Given the description of an element on the screen output the (x, y) to click on. 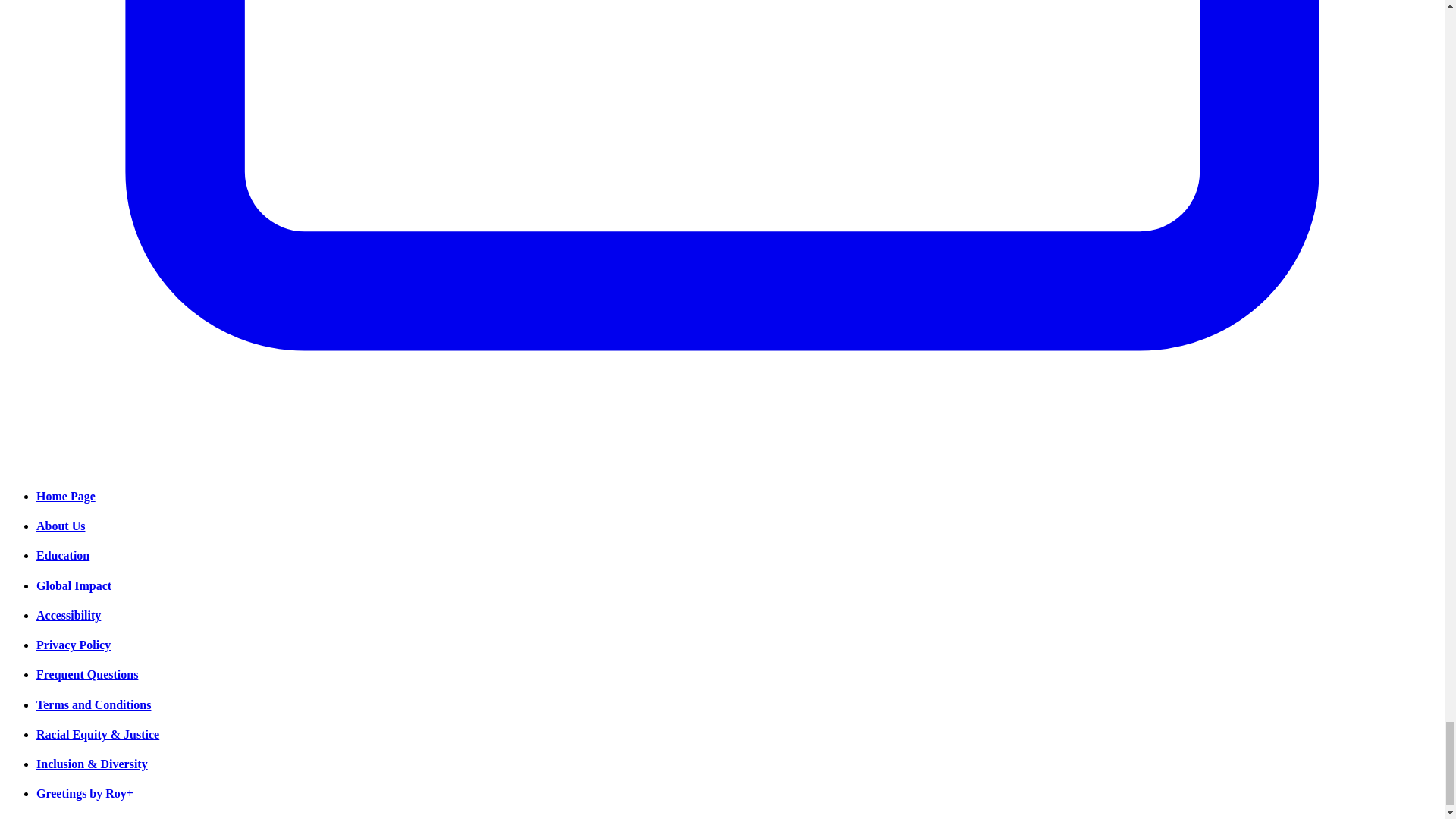
Global Impact (74, 585)
Frequent Questions (87, 674)
Privacy Policy (73, 644)
Accessibility (68, 615)
About Us (60, 525)
Education (62, 554)
Home Page (66, 495)
